Given the description of an element on the screen output the (x, y) to click on. 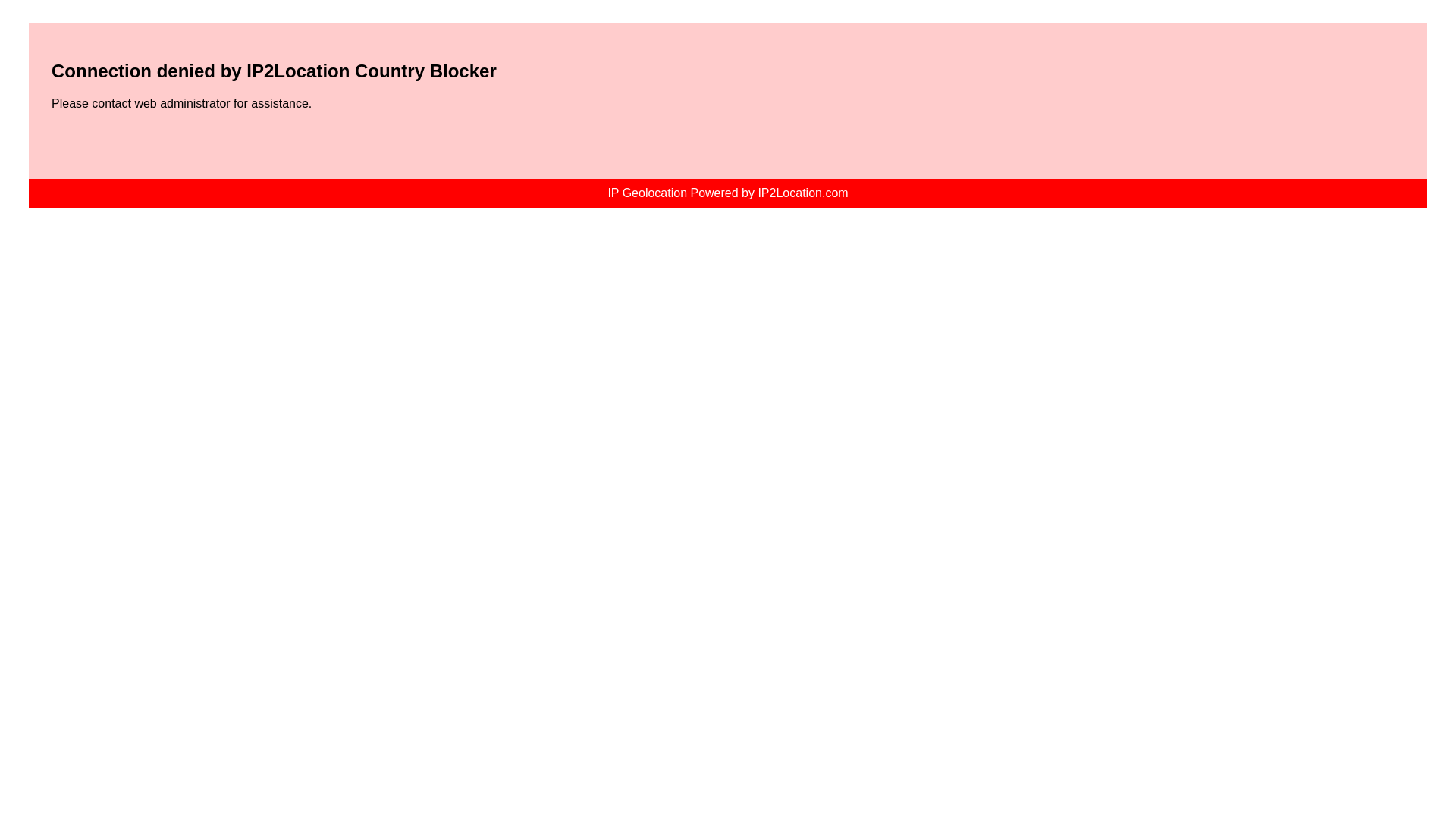
IP Geolocation Powered by IP2Location.com (727, 192)
